Given the description of an element on the screen output the (x, y) to click on. 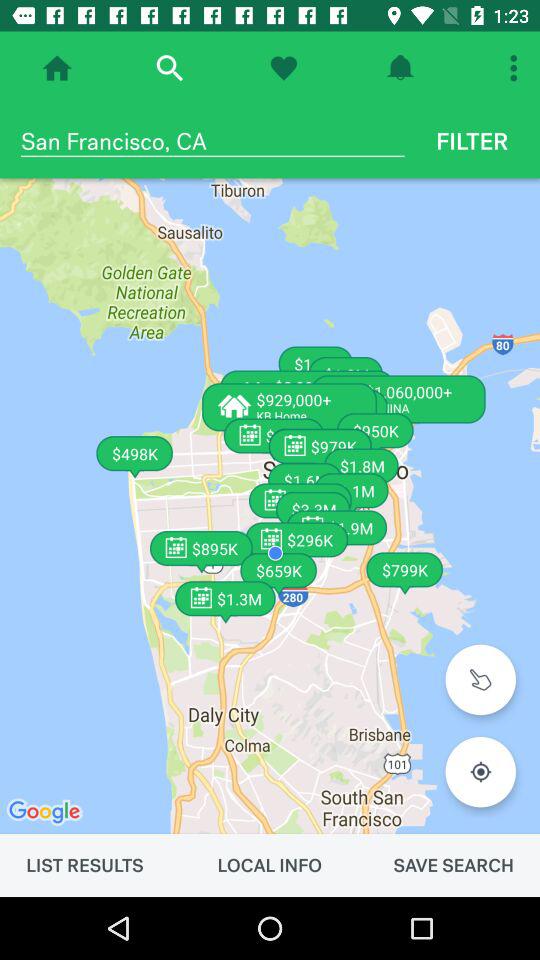
open icon above the save search item (480, 772)
